Given the description of an element on the screen output the (x, y) to click on. 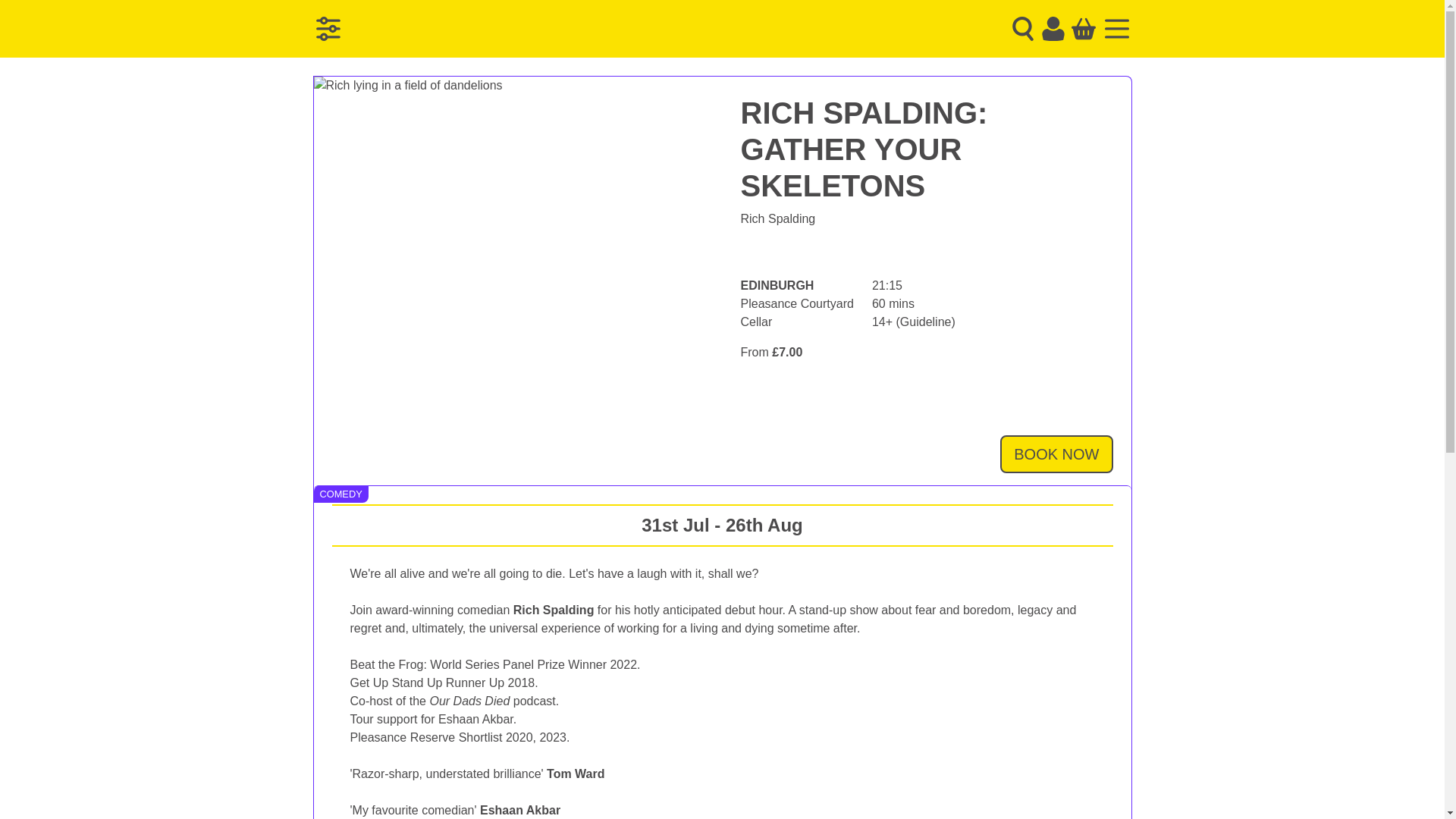
BOOK NOW (1056, 453)
Pleasance Theatre Trust (459, 28)
